Given the description of an element on the screen output the (x, y) to click on. 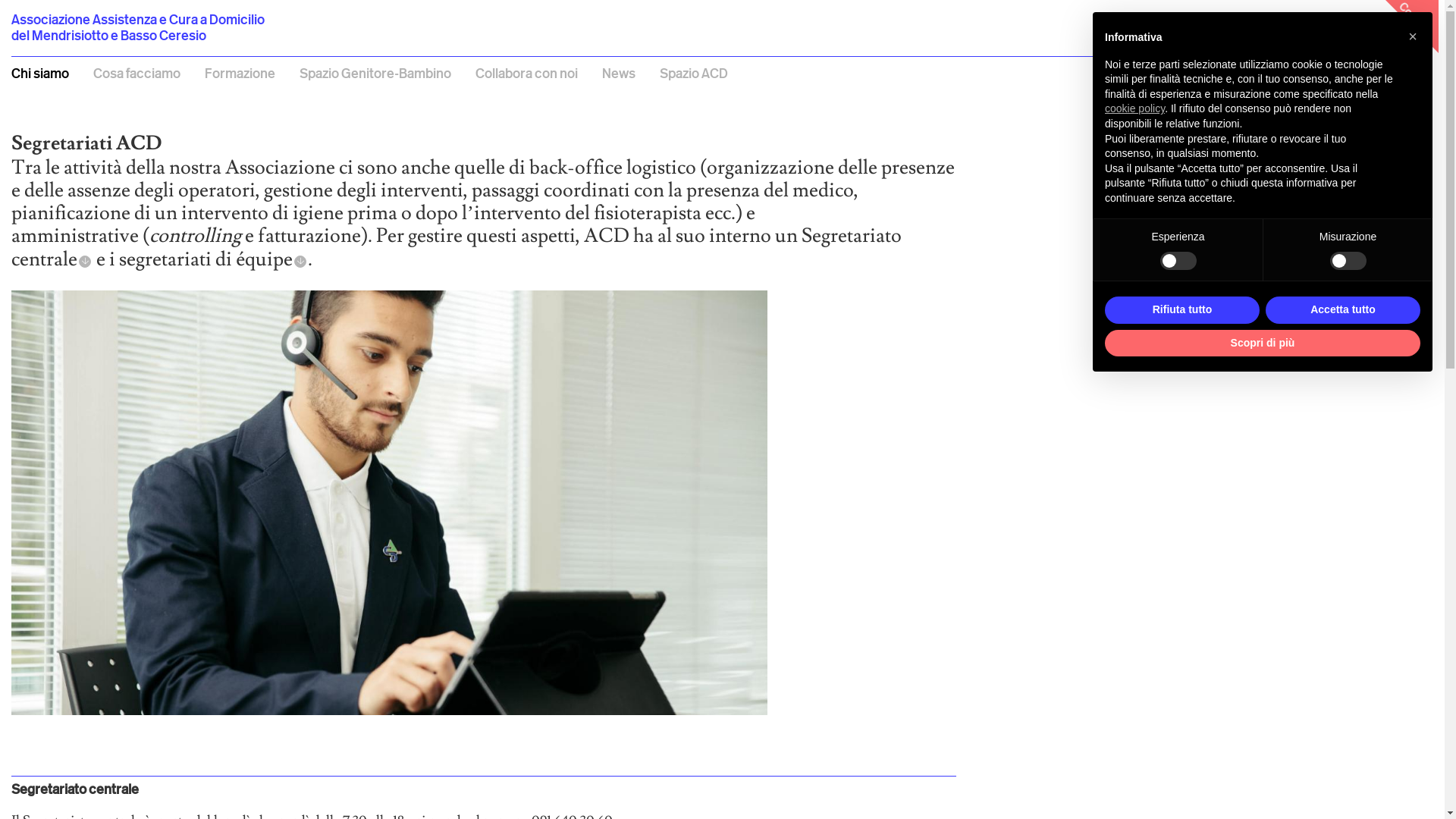
Accedi Element type: text (1410, 72)
Rifiuta tutto Element type: text (1181, 309)
cookie policy Element type: text (1134, 108)
Segretariato centrale Element type: text (456, 246)
  Element type: text (0, 11)
Accetta tutto Element type: text (1342, 309)
Salta al contenuto principale Element type: text (0, 7)
